Given the description of an element on the screen output the (x, y) to click on. 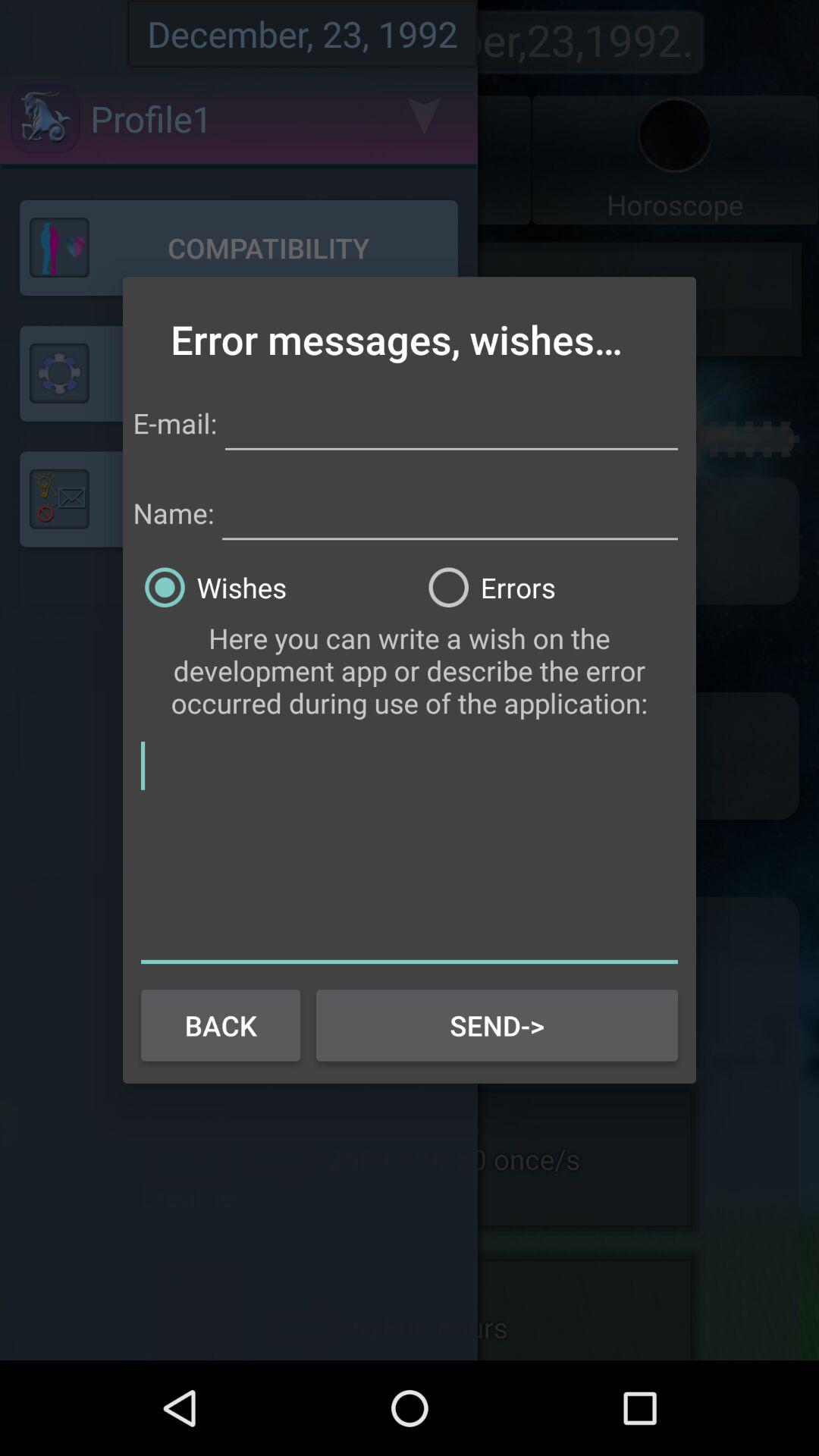
tap the button next to the back (496, 1025)
